Given the description of an element on the screen output the (x, y) to click on. 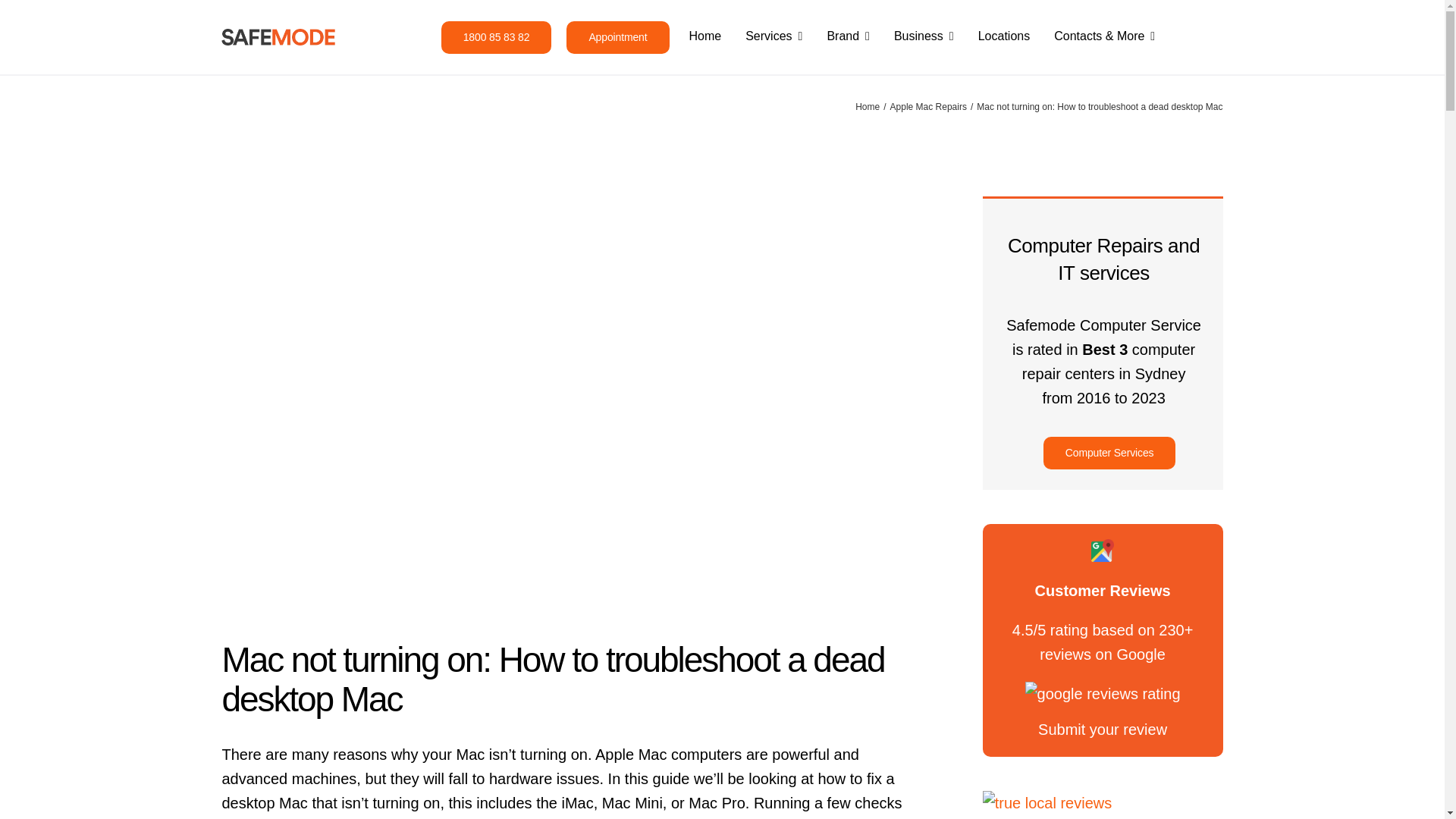
1800 85 83 82 (496, 37)
Home (704, 37)
Services (773, 37)
Appointment (617, 37)
